Given the description of an element on the screen output the (x, y) to click on. 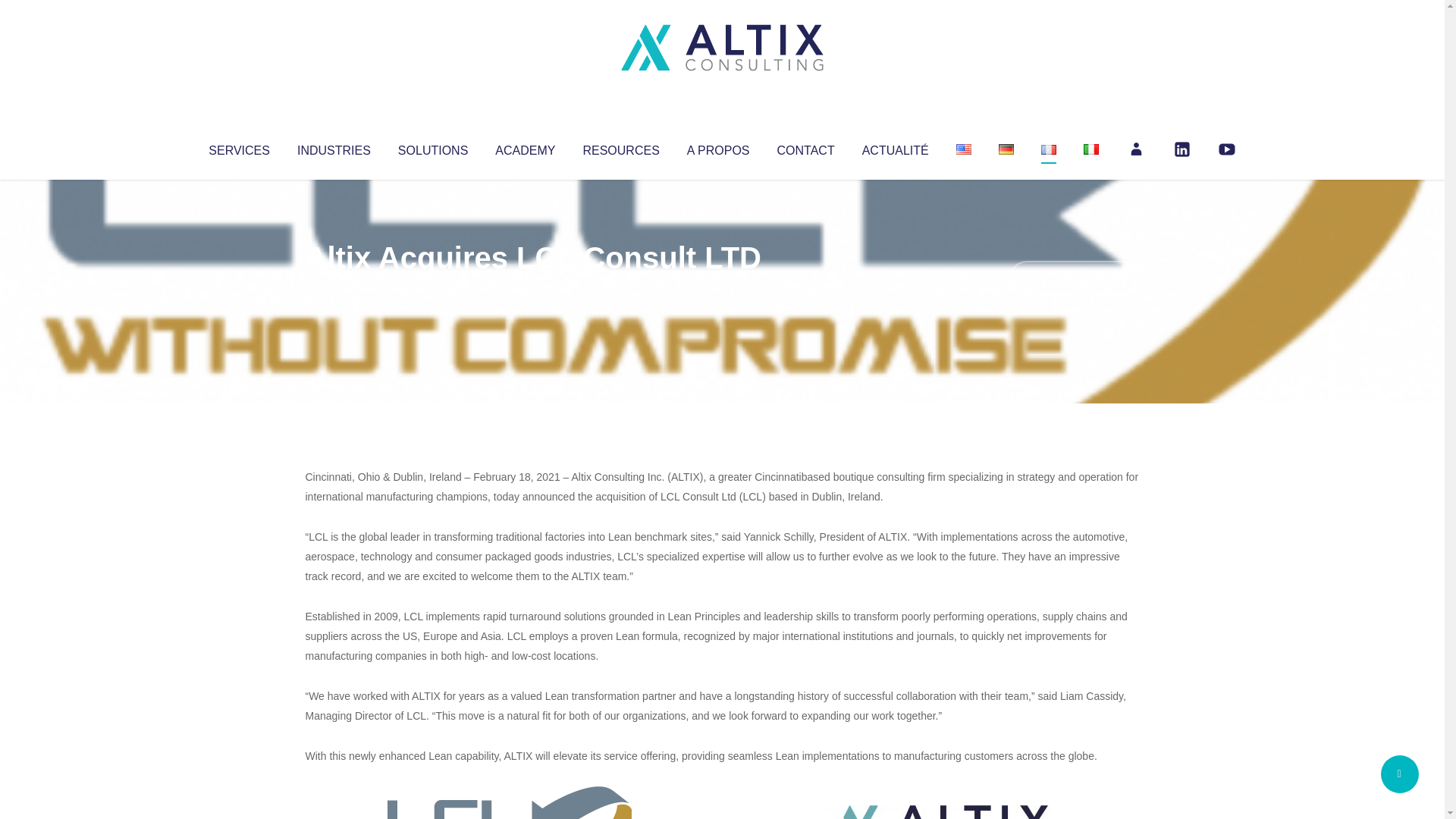
Articles par Altix (333, 287)
RESOURCES (620, 146)
SERVICES (238, 146)
INDUSTRIES (334, 146)
Altix (333, 287)
ACADEMY (524, 146)
No Comments (1073, 278)
SOLUTIONS (432, 146)
Uncategorized (530, 287)
A PROPOS (718, 146)
